Given the description of an element on the screen output the (x, y) to click on. 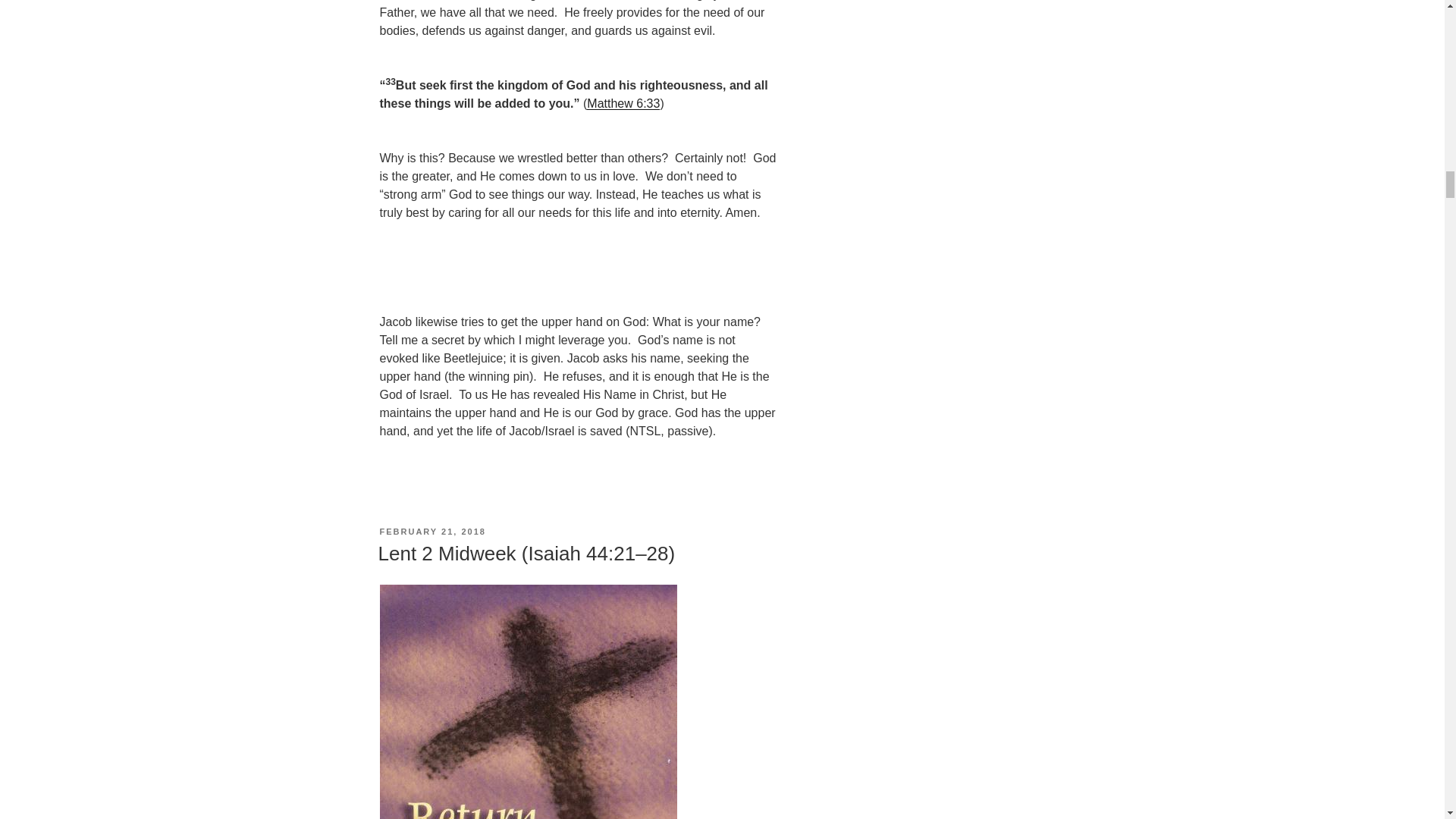
Matthew 6:33 (622, 103)
FEBRUARY 21, 2018 (431, 531)
